Given the description of an element on the screen output the (x, y) to click on. 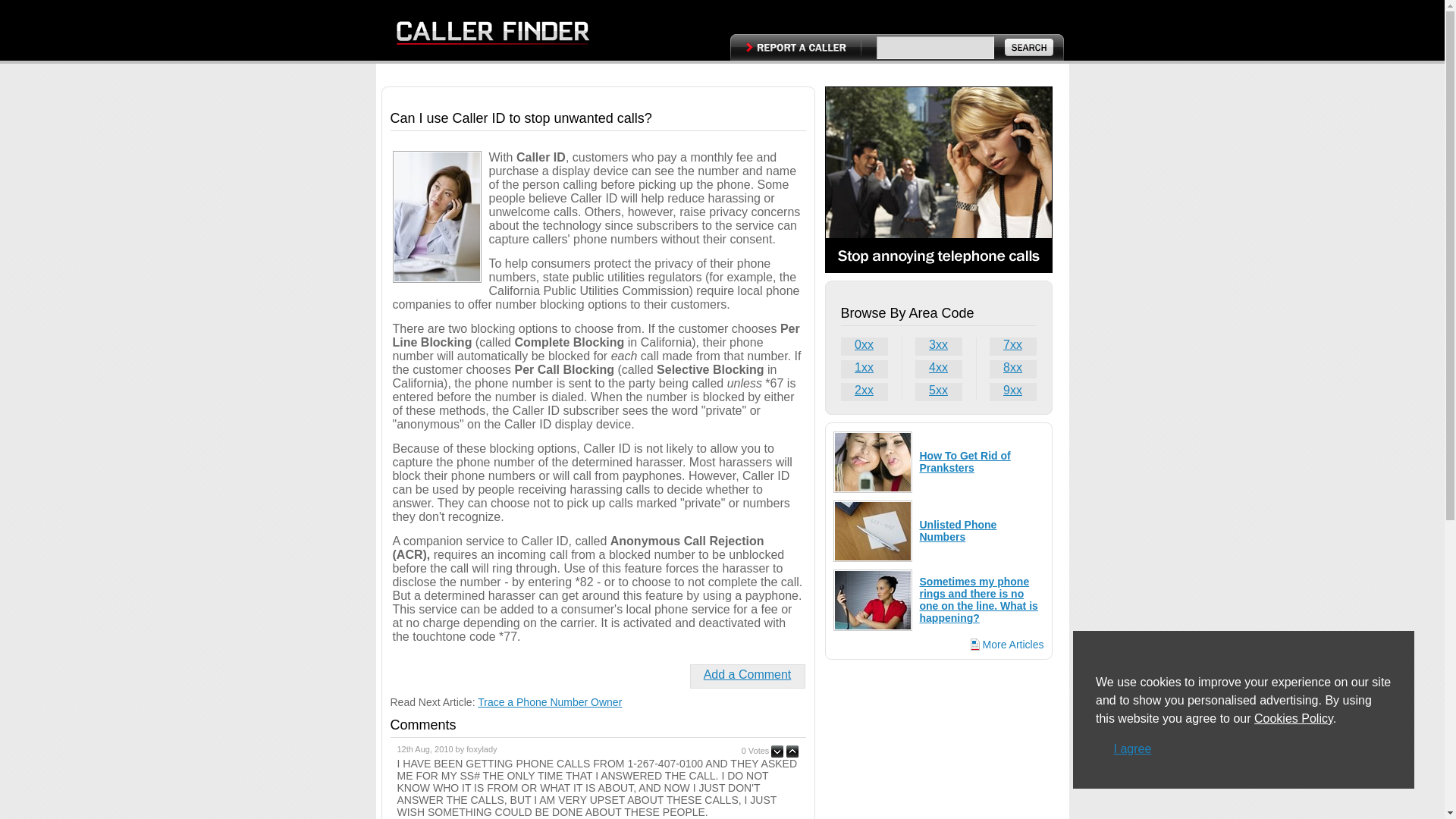
2xx (863, 392)
More Articles (1007, 644)
7xx (1012, 346)
8xx (1012, 369)
4xx (937, 369)
How To Get Rid of Pranksters (964, 461)
0xx (863, 346)
1xx (863, 369)
Unlisted Phone Numbers (956, 530)
Trace a Phone Number Owner (549, 702)
Advertisement (938, 743)
3xx (937, 346)
5xx (937, 392)
Add a Comment (747, 674)
